Given the description of an element on the screen output the (x, y) to click on. 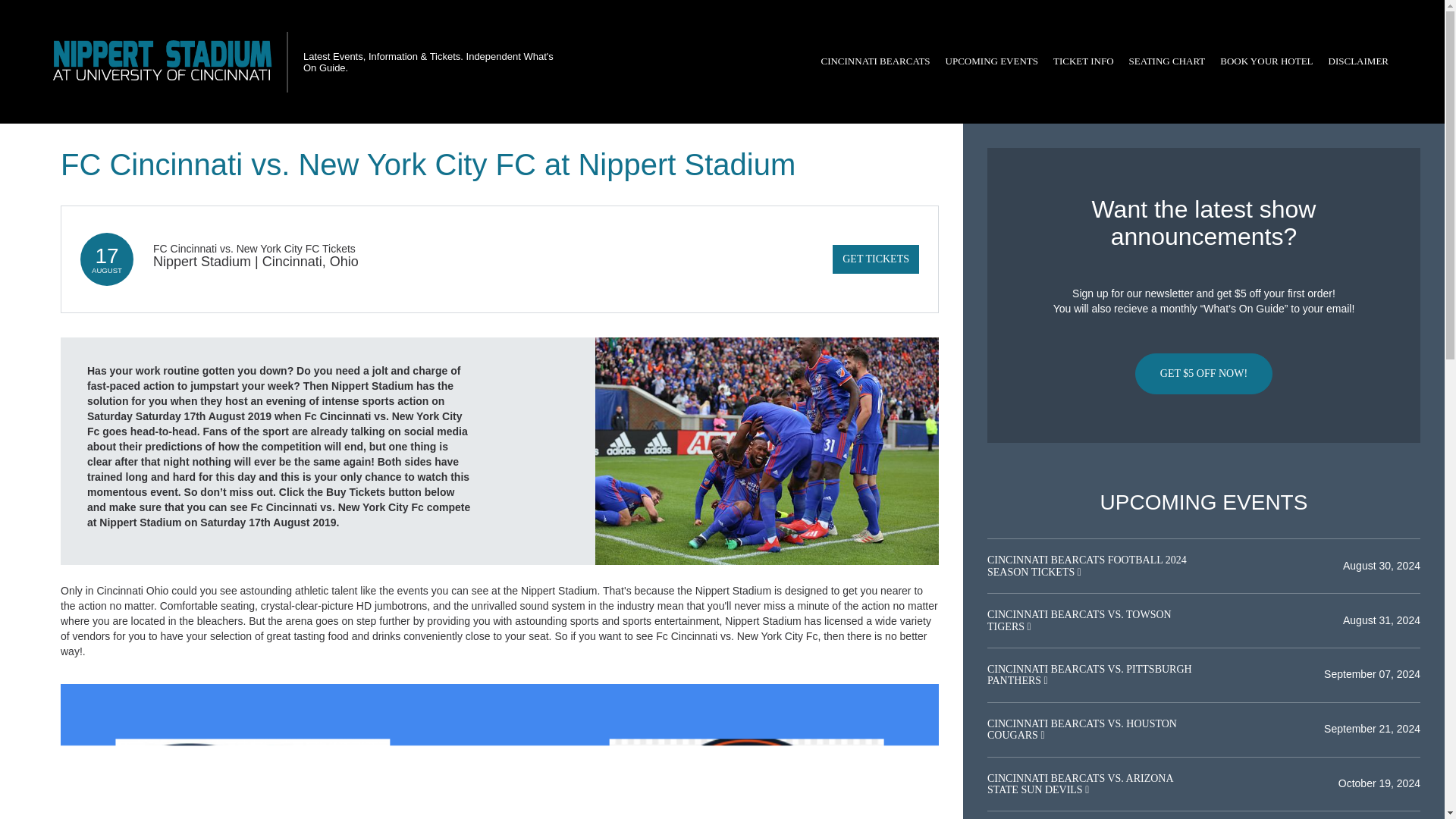
DISCLAIMER (1358, 61)
FC Cincinnati vs. New York City FC at Nippert Stadium (767, 451)
GET TICKETS (875, 258)
UPCOMING EVENTS (991, 61)
BOOK YOUR HOTEL (1266, 61)
FC Cincinnati vs. New York City FC Tickets (253, 248)
CINCINNATI BEARCATS (874, 61)
CINCINNATI BEARCATS FOOTBALL 2024 SEASON TICKETS (1086, 565)
SEATING CHART (1166, 61)
TICKET INFO (1083, 61)
